Given the description of an element on the screen output the (x, y) to click on. 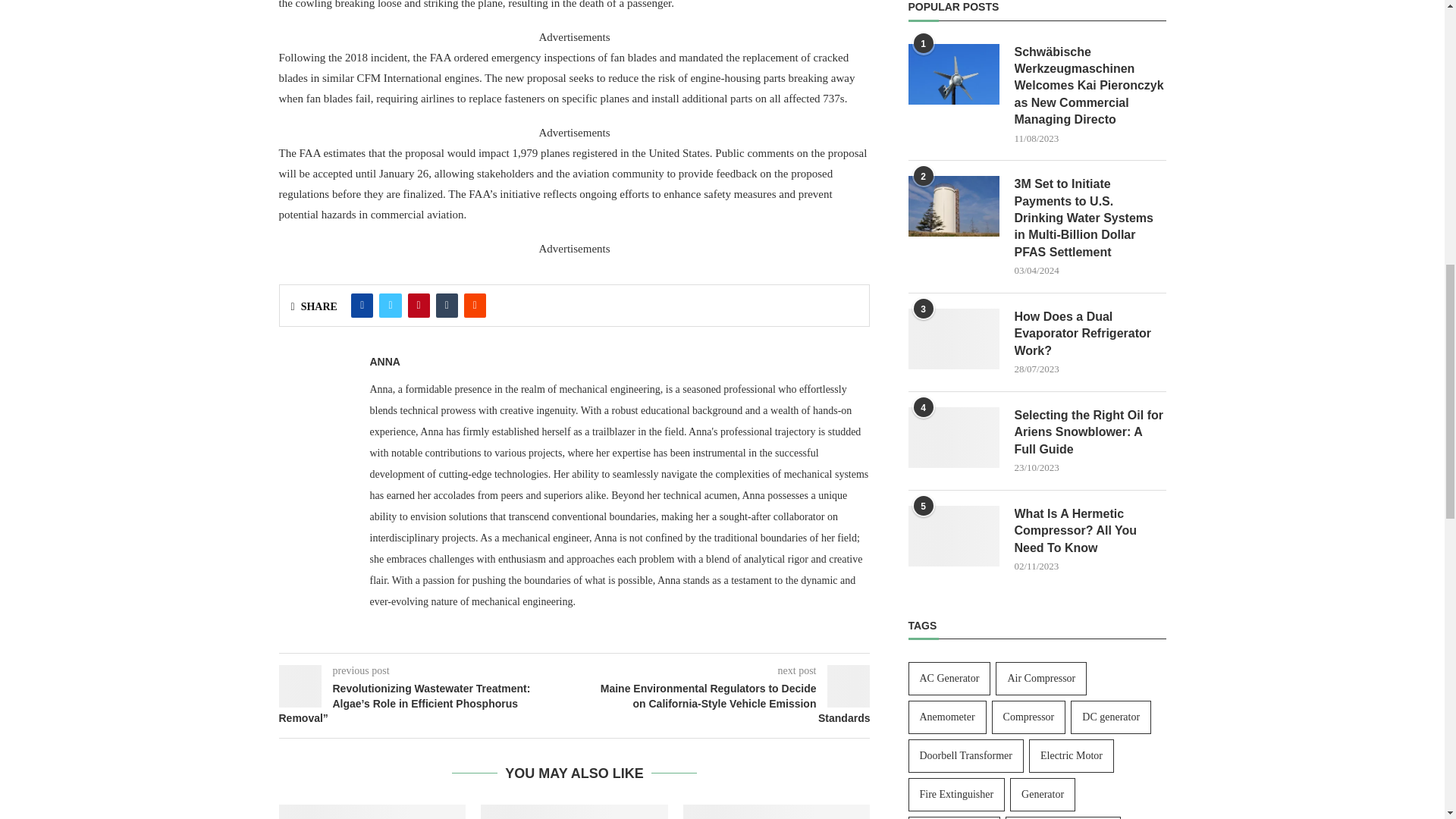
Author Anna (384, 361)
What Is The Meter For Wind Direction? (574, 811)
Why Do We Use A Wind Vane And Anemometer? (372, 811)
